Given the description of an element on the screen output the (x, y) to click on. 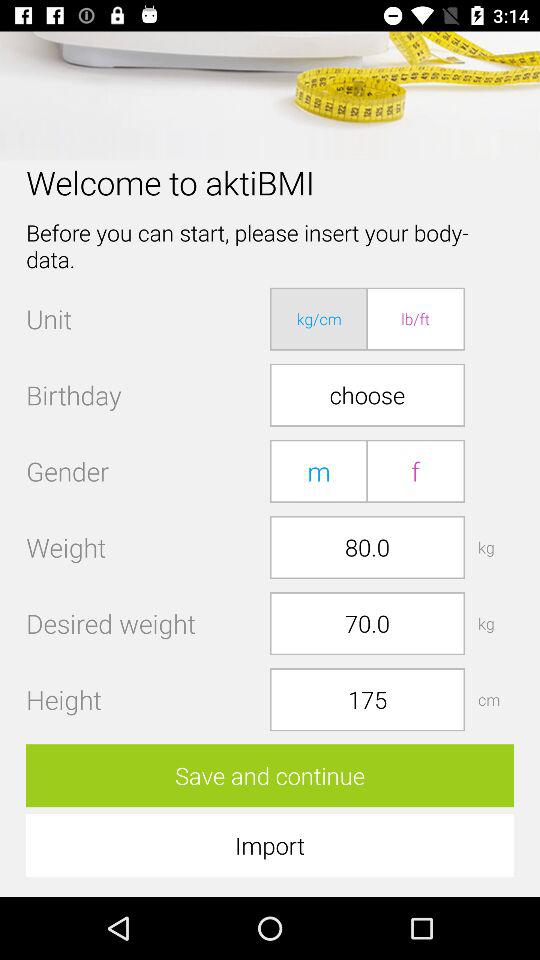
tap the app next to the unit (319, 318)
